Given the description of an element on the screen output the (x, y) to click on. 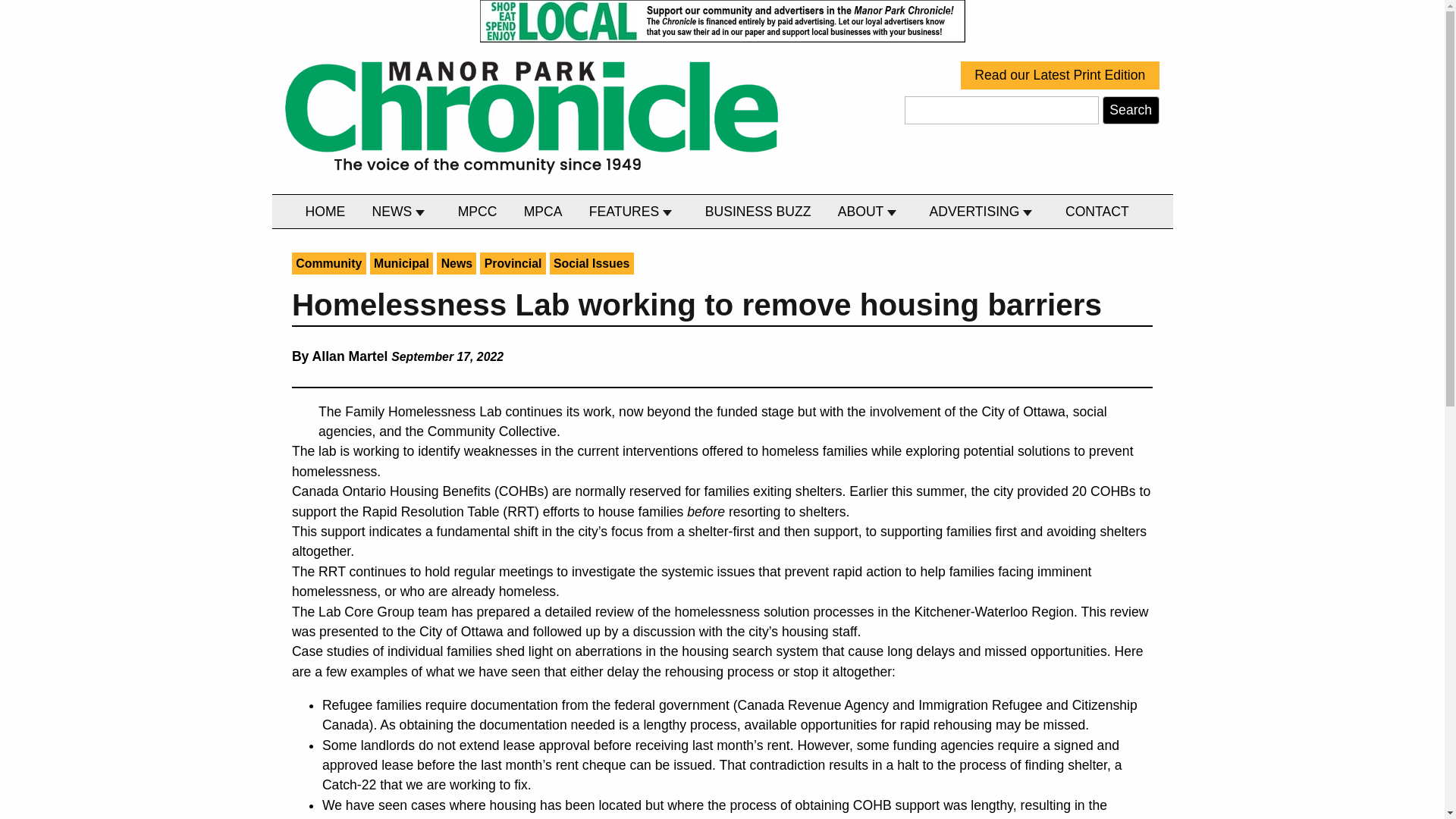
CONTACT (1096, 211)
Community (329, 263)
MPCC (477, 211)
Read our Latest Print Edition (1059, 75)
NEWS (401, 211)
BUSINESS BUZZ (757, 211)
MPCA (542, 211)
ADVERTISING (984, 211)
Municipal (401, 263)
Search (1130, 110)
ABOUT (869, 211)
FEATURES (633, 211)
HOME (325, 211)
